Given the description of an element on the screen output the (x, y) to click on. 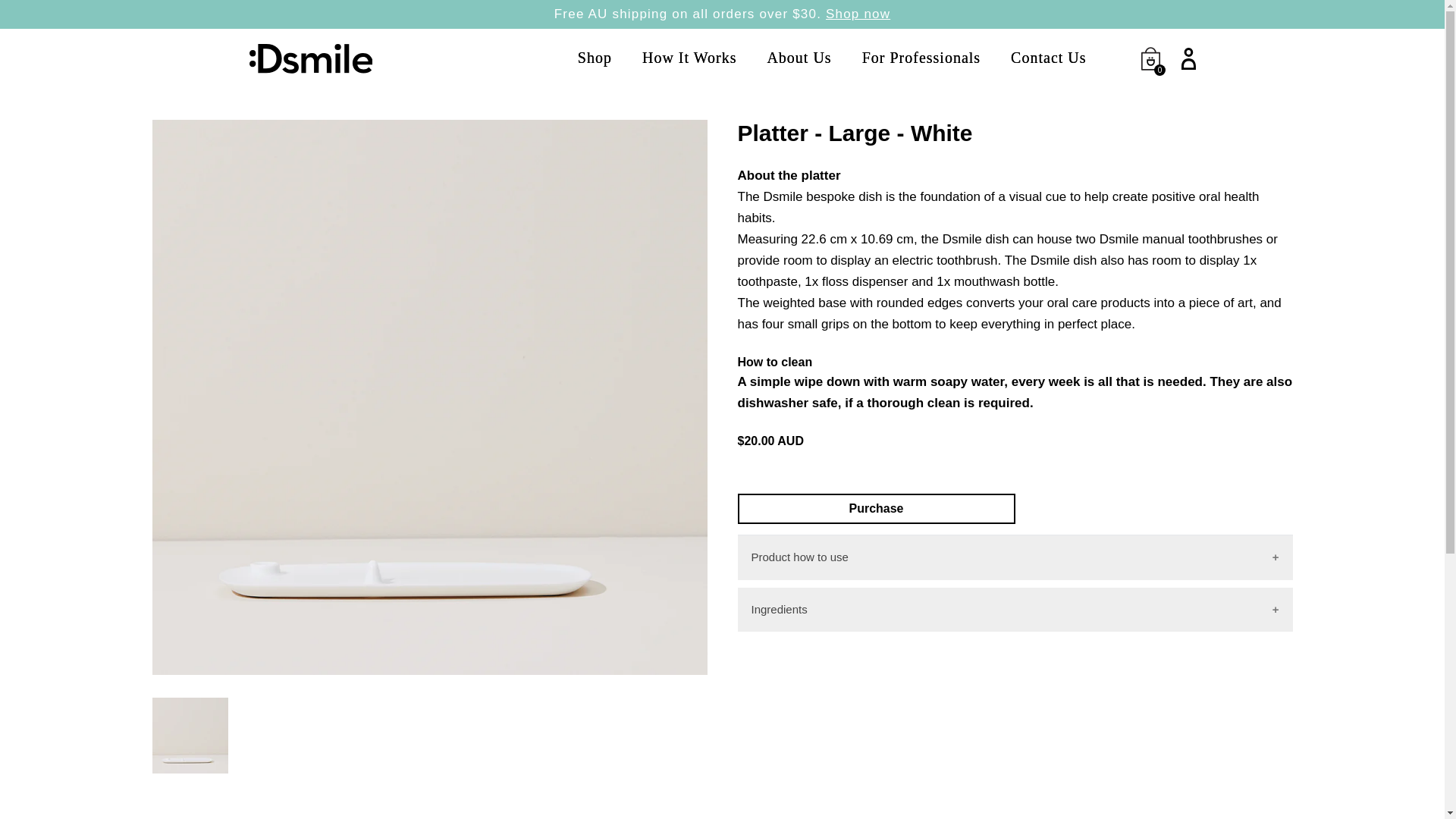
About Us (799, 57)
For Professionals (920, 57)
How It Works (689, 57)
Shop (594, 57)
Contact Us (1048, 57)
